Given the description of an element on the screen output the (x, y) to click on. 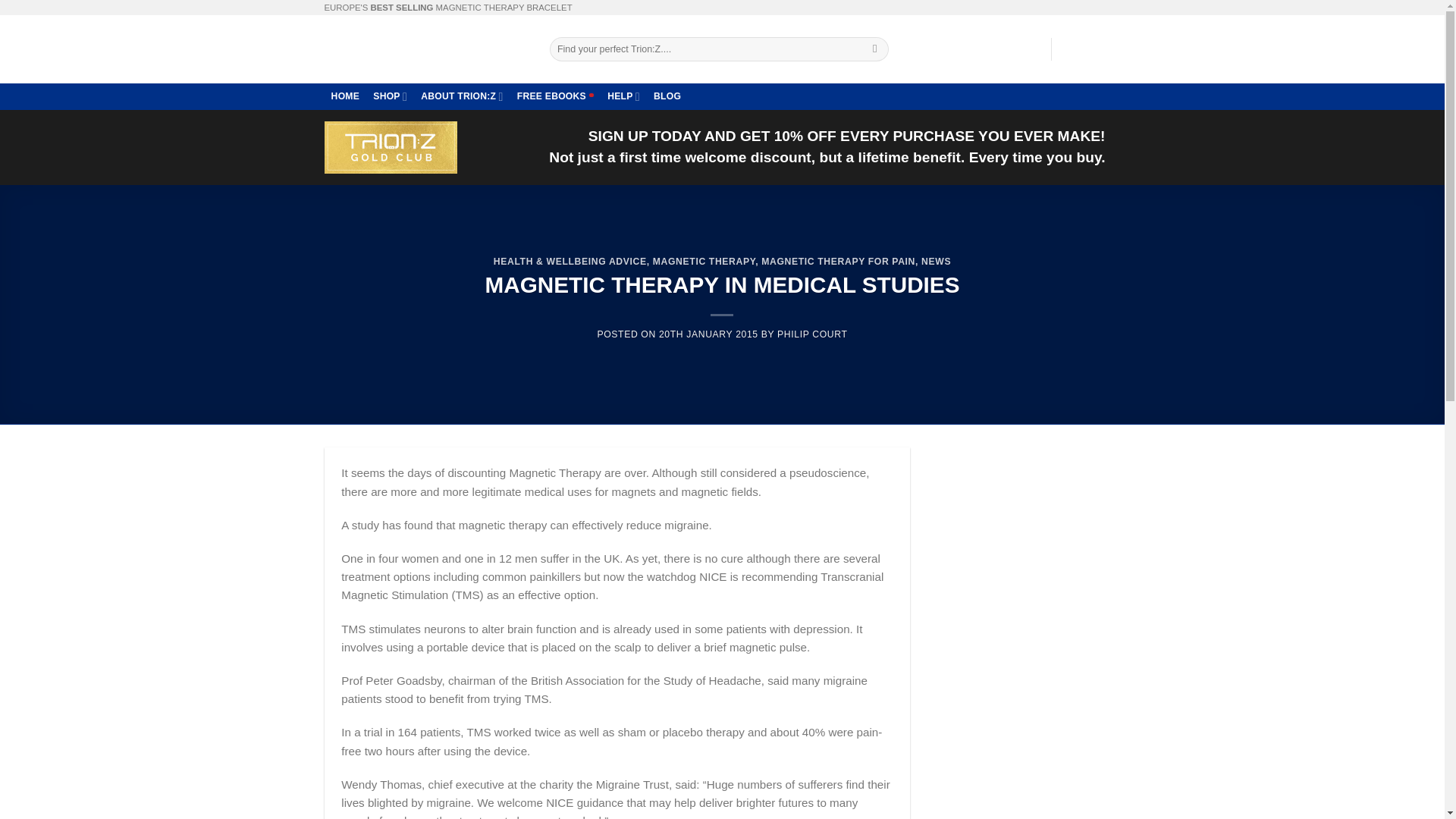
LOGIN (1024, 49)
FREE EBOOKS (555, 96)
SHOP (389, 96)
ABOUT TRION:Z (462, 96)
HOME (345, 96)
Trion:Z - Europe's Best Selling Magnetic Therapy Bracelet (425, 49)
HELP (622, 96)
Basket (1090, 49)
BASKET (1090, 49)
Search (874, 48)
